Given the description of an element on the screen output the (x, y) to click on. 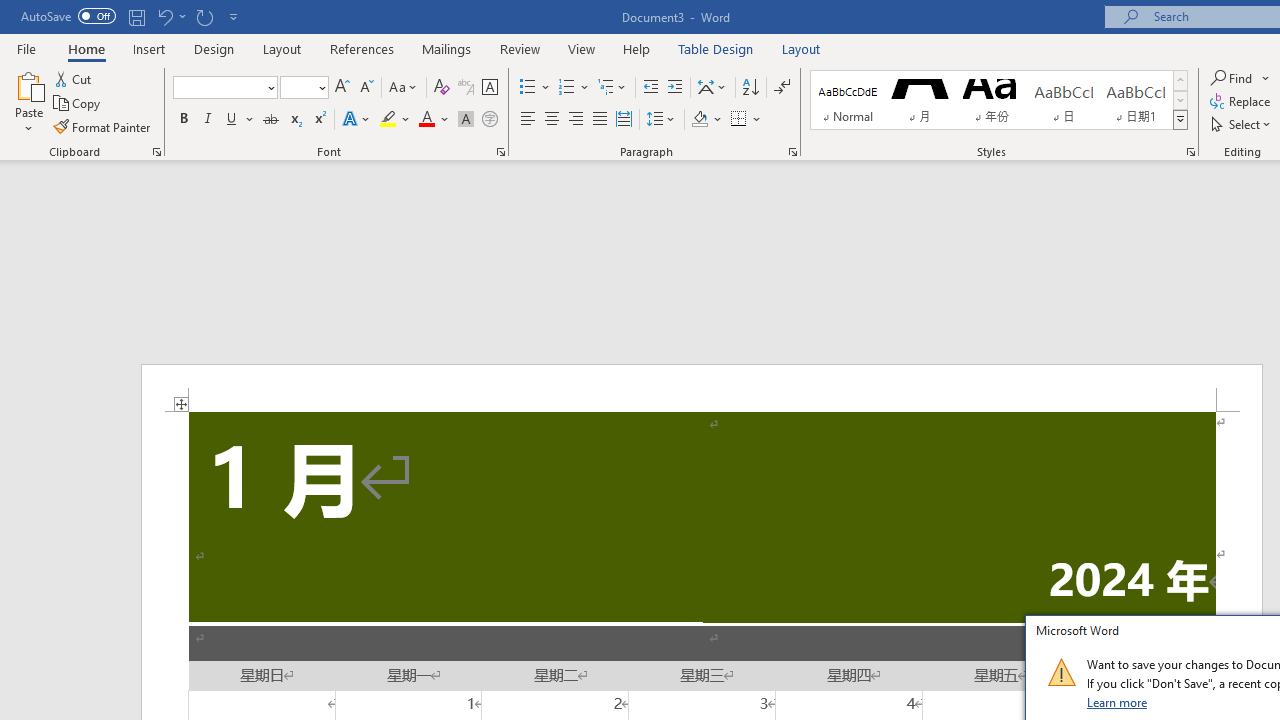
Styles... (1190, 151)
Header -Section 1- (701, 387)
Borders (739, 119)
Bullets (527, 87)
Align Right (575, 119)
Sort... (750, 87)
Line and Paragraph Spacing (661, 119)
Font Color (434, 119)
Numbering (566, 87)
AutomationID: QuickStylesGallery (999, 99)
Mailings (447, 48)
Font (224, 87)
